Given the description of an element on the screen output the (x, y) to click on. 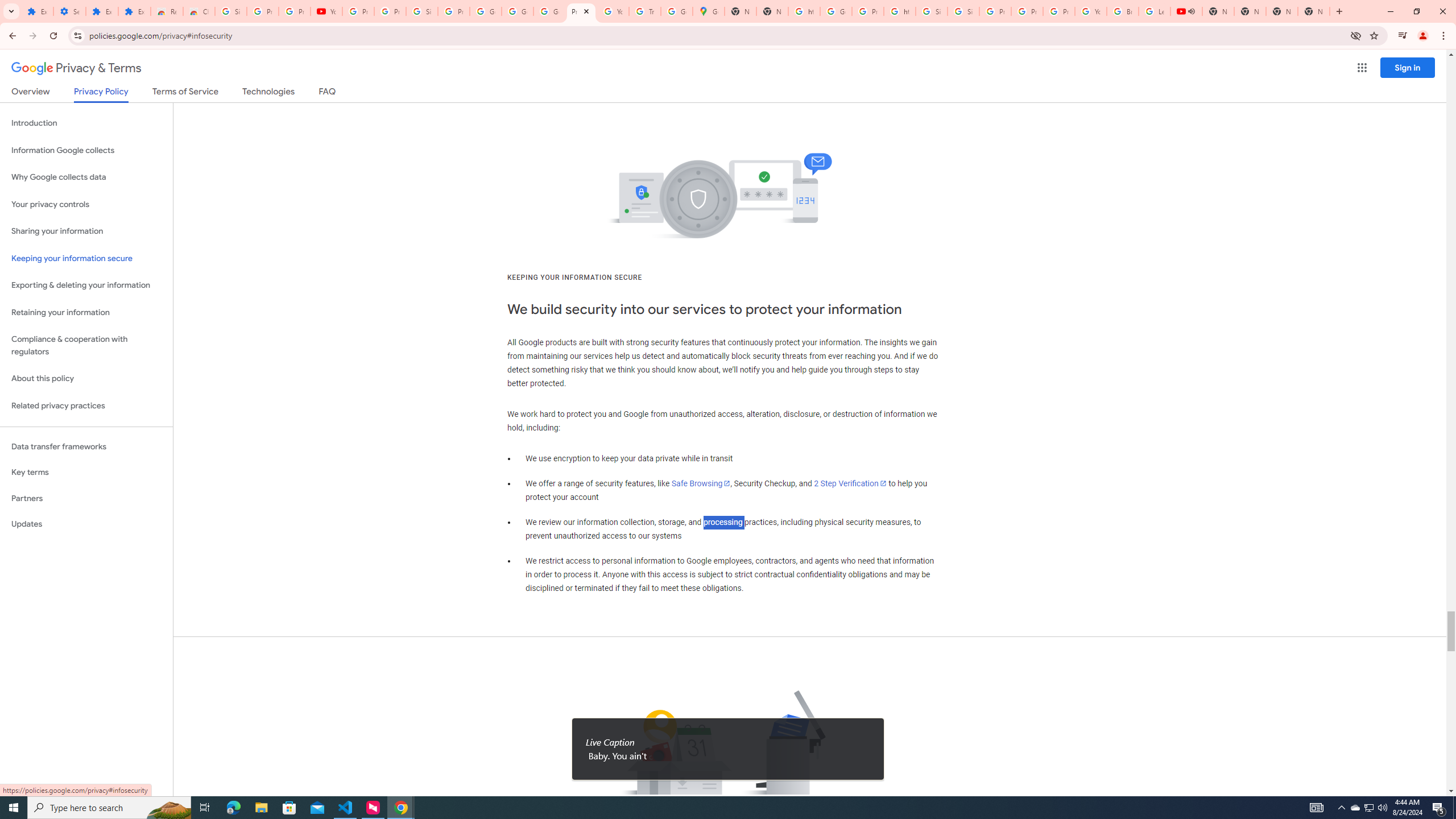
New Tab (1281, 11)
Sign in - Google Accounts (421, 11)
Extensions (134, 11)
Extensions (37, 11)
